Given the description of an element on the screen output the (x, y) to click on. 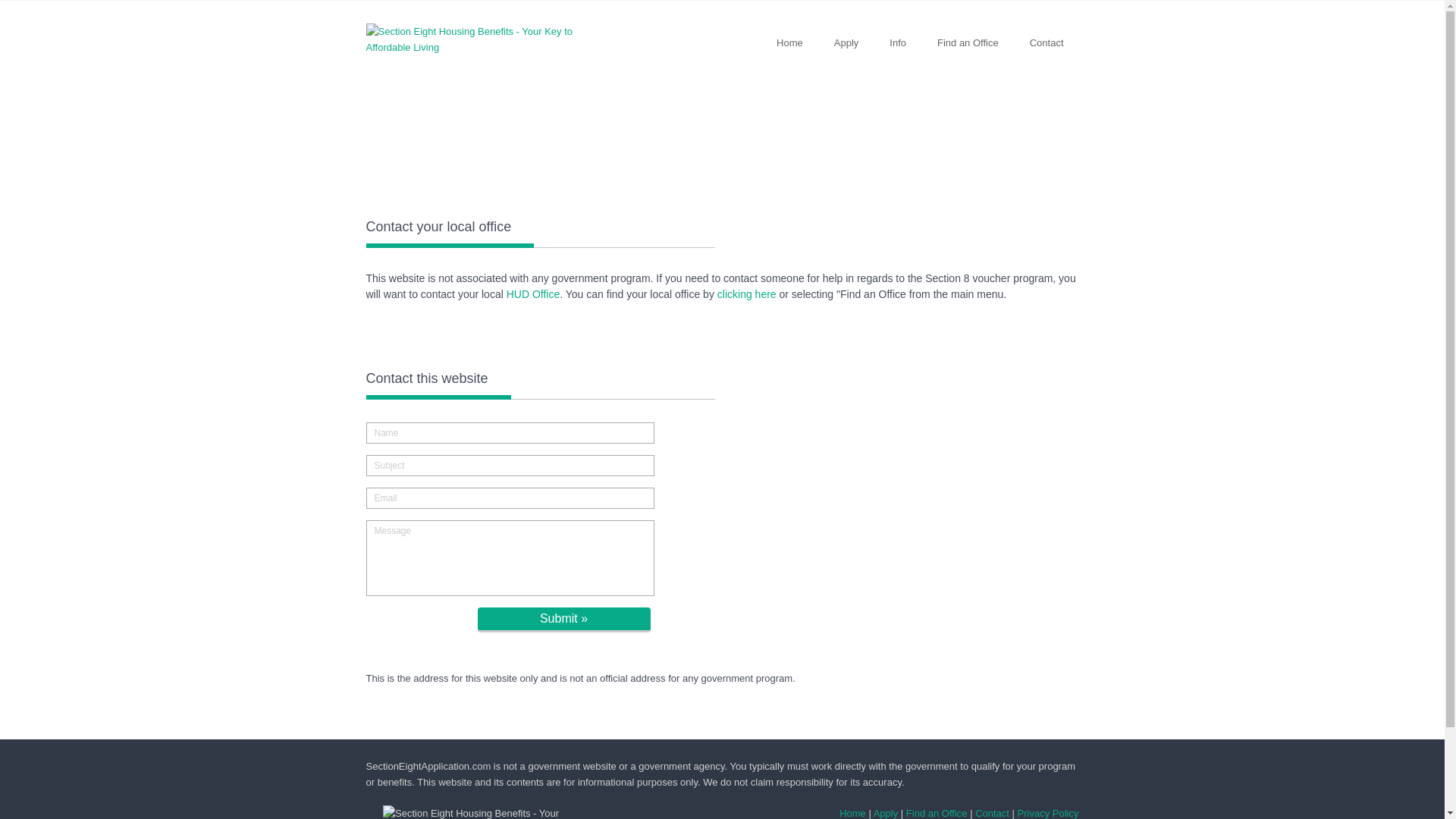
Find an Office (967, 42)
Privacy Policy (1047, 813)
Apply (885, 813)
Contact (992, 813)
Home (853, 813)
HUD Office (533, 294)
Find an Office (936, 813)
clicking here (746, 294)
